Given the description of an element on the screen output the (x, y) to click on. 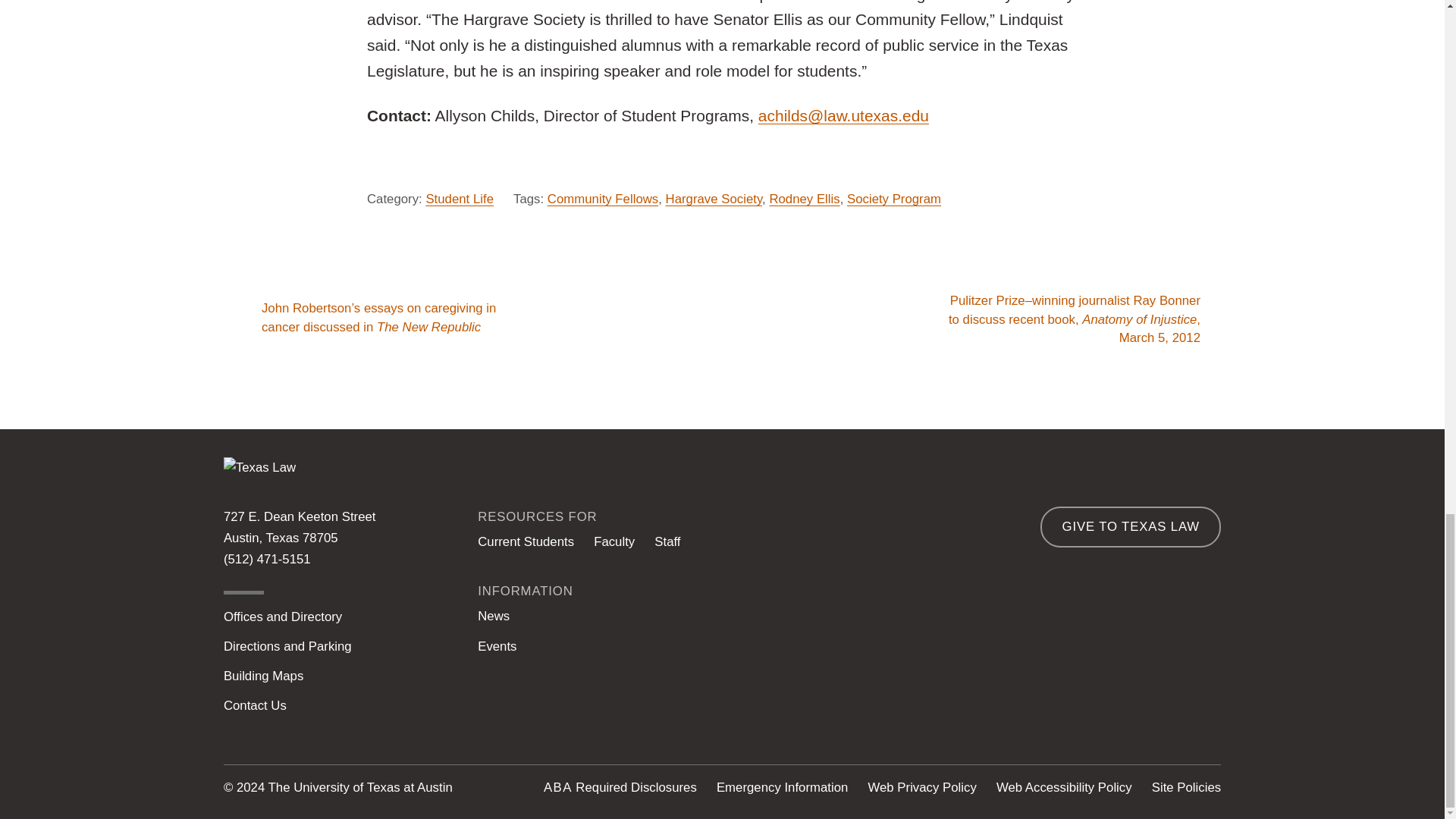
LinkedIn (973, 695)
Twitter (1031, 695)
YouTube (1147, 695)
Flickr (1206, 695)
Instagram (915, 695)
Facebook (1091, 695)
American Bar Association (557, 787)
